Given the description of an element on the screen output the (x, y) to click on. 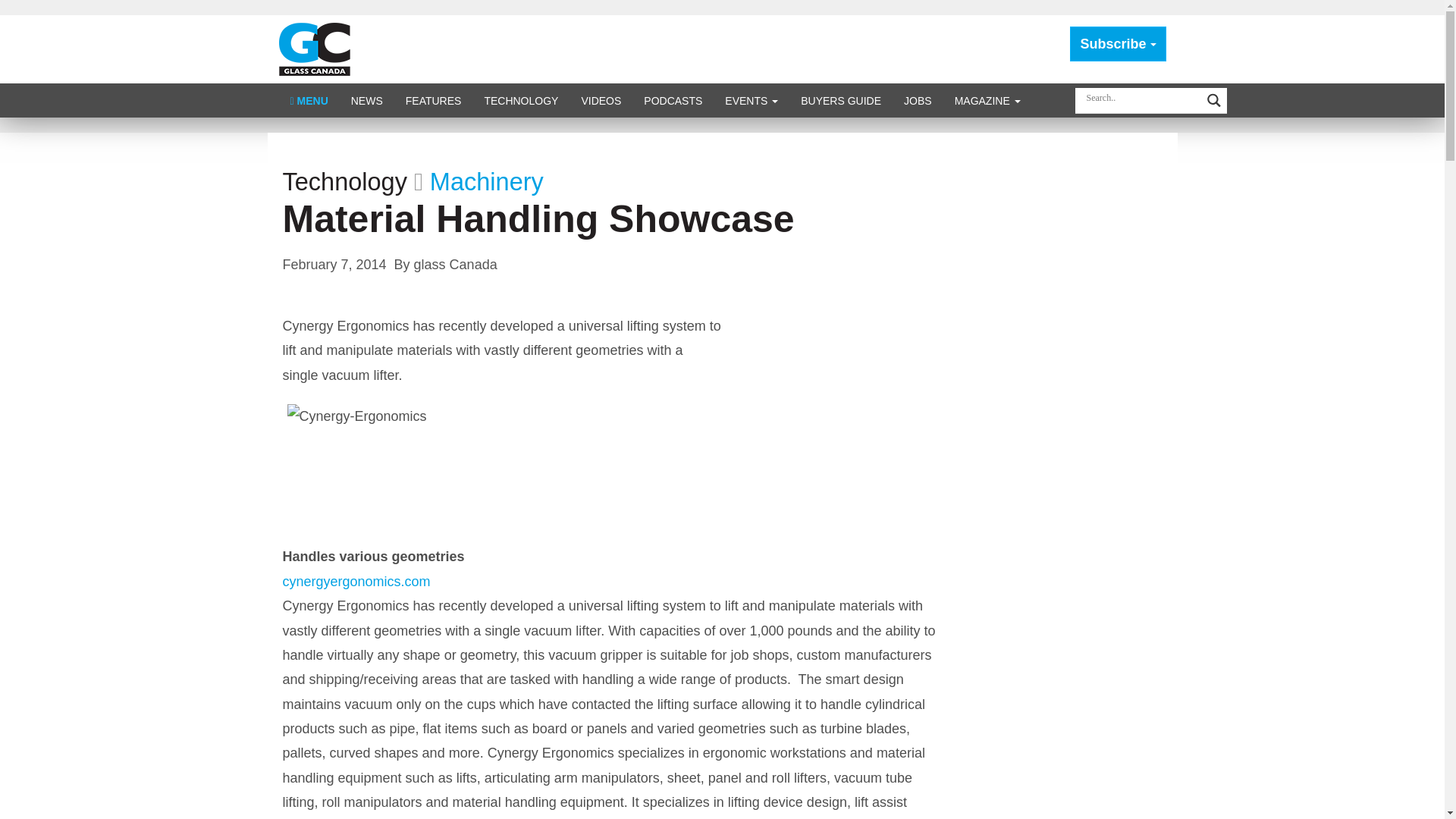
Subscribe (1118, 43)
EVENTS (751, 100)
TECHNOLOGY (520, 100)
MAGAZINE (987, 100)
NEWS (366, 100)
PODCASTS (672, 100)
Click to show site navigation (309, 100)
Cynergy-Ergonomics (362, 459)
BUYERS GUIDE (840, 100)
JOBS (917, 100)
FEATURES (433, 100)
MENU (309, 100)
VIDEOS (600, 100)
Glass Canada (314, 48)
